Given the description of an element on the screen output the (x, y) to click on. 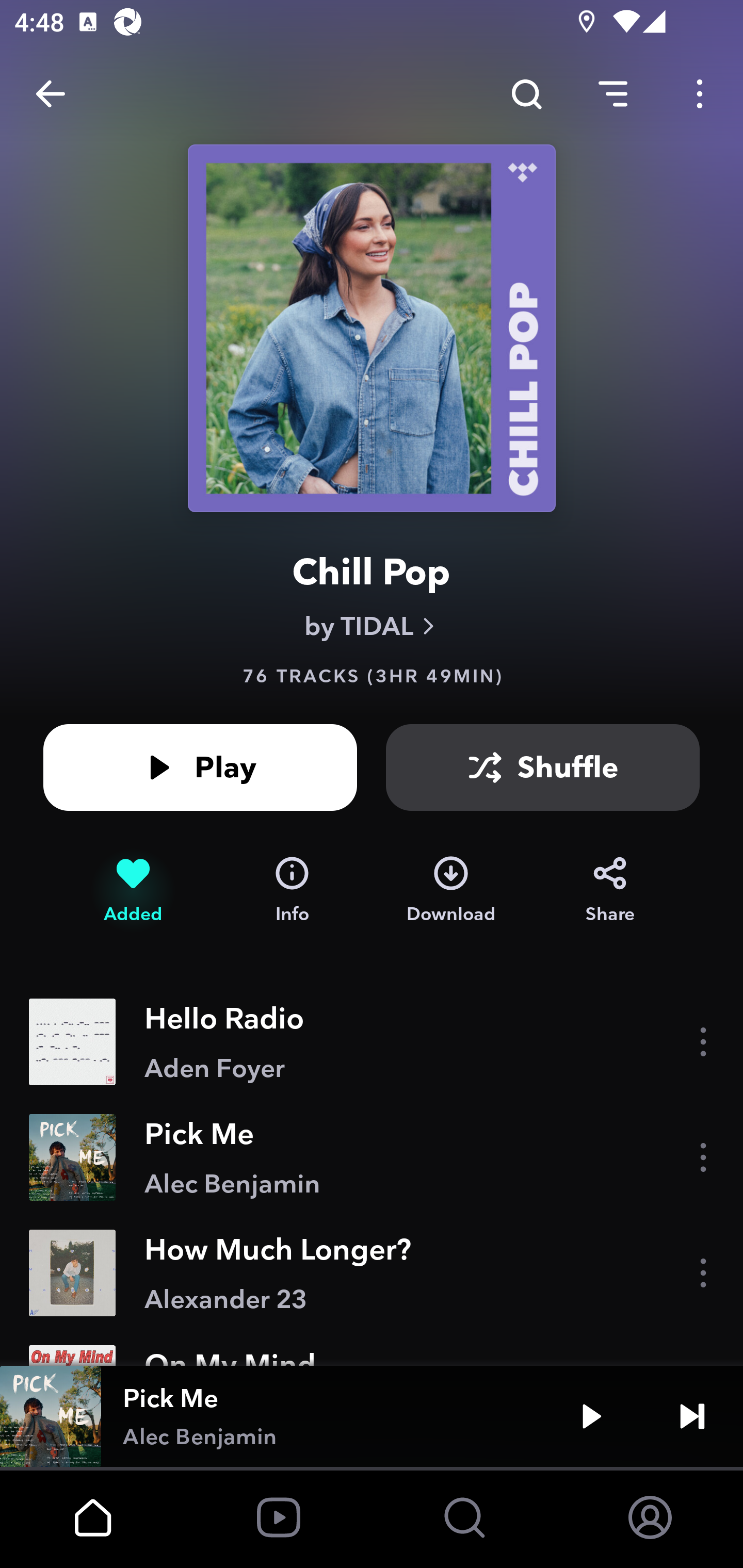
Back (50, 93)
Search (525, 93)
Sorting (612, 93)
Options (699, 93)
by TIDAL (371, 625)
Play (200, 767)
Shuffle (542, 767)
Added (132, 890)
Info (291, 890)
Download (450, 890)
Share (609, 890)
Hello Radio Aden Foyer (371, 1041)
Pick Me Alec Benjamin (371, 1157)
How Much Longer? Alexander 23 (371, 1273)
Pick Me Alec Benjamin Play (371, 1416)
Play (590, 1416)
